Given the description of an element on the screen output the (x, y) to click on. 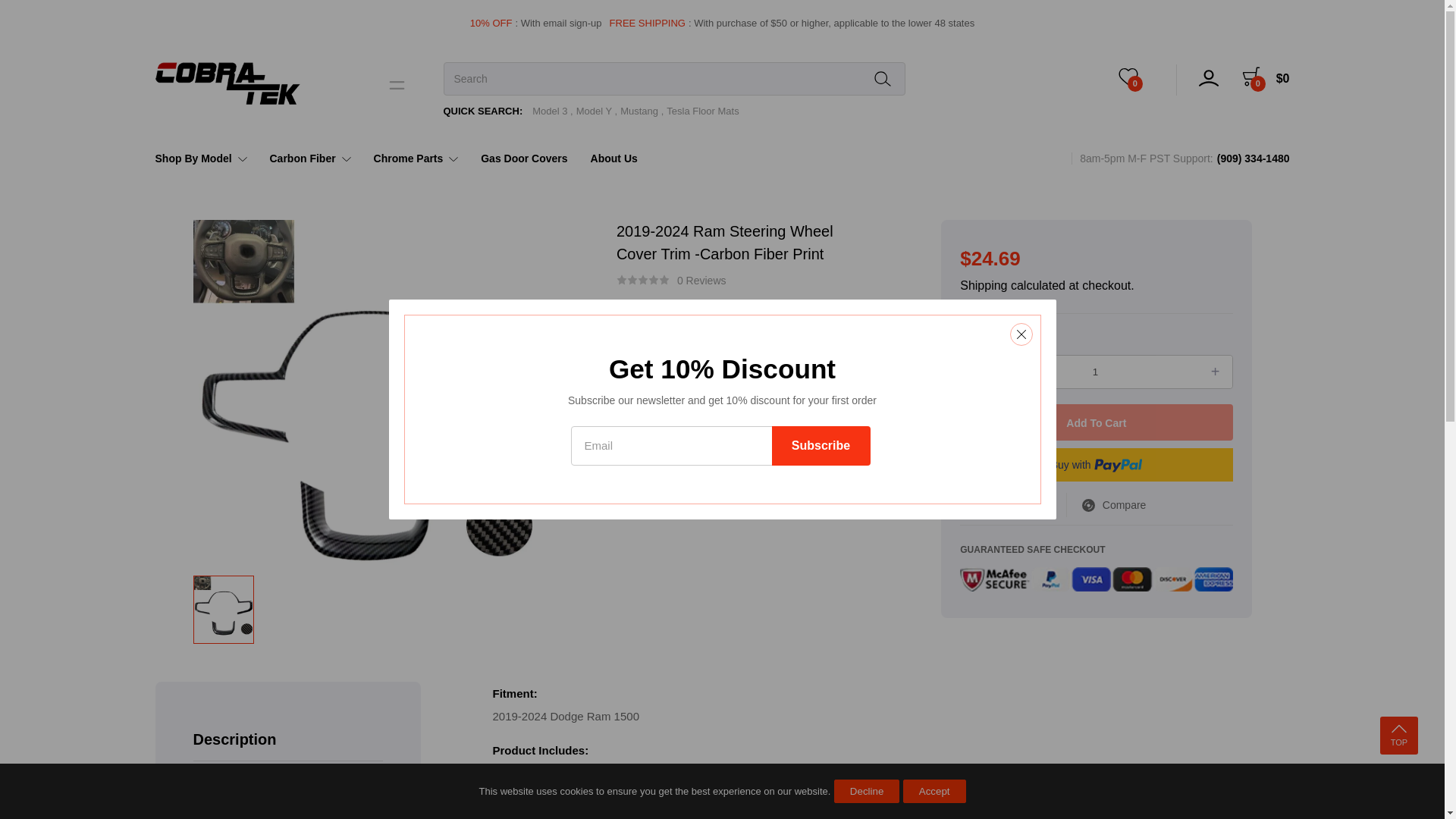
Tesla Floor Mats (702, 111)
Show products matching tag Carbon Fiber Print (688, 457)
Gas Door Covers (523, 158)
Mustang (641, 111)
Model 3 (552, 111)
Accept (934, 791)
Chrome Parts (416, 158)
Shop By Model (205, 158)
0 (1135, 80)
Decline (866, 791)
1 (1095, 371)
TOP (1399, 735)
Carbon Fiber (309, 158)
About Us (614, 158)
Carbon Fiber Print (718, 408)
